Given the description of an element on the screen output the (x, y) to click on. 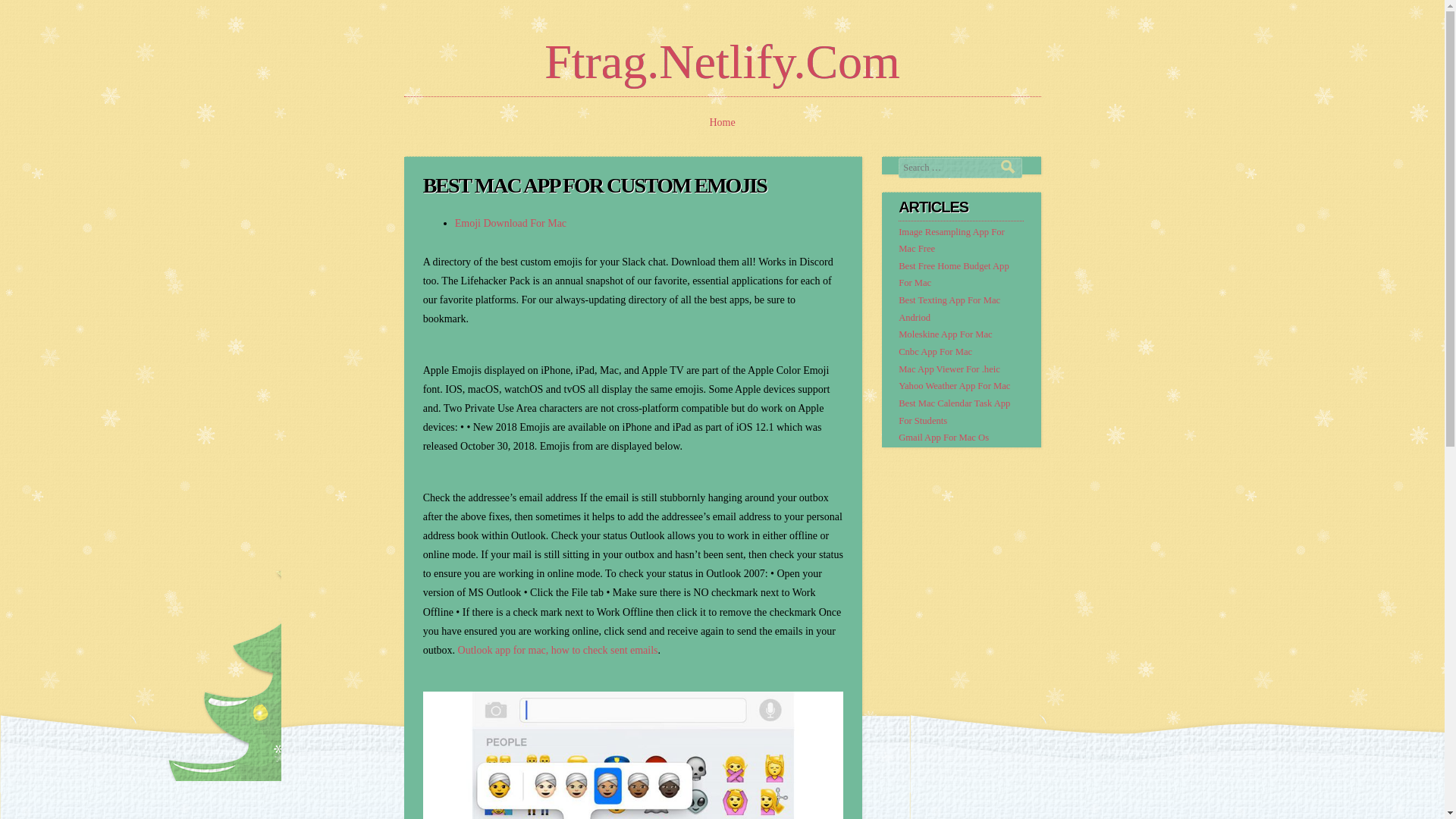
Moleskine App For Mac (944, 334)
Emoji Download For Mac (510, 223)
Ftrag.Netlify.Com (721, 61)
Home (722, 122)
Best Texting App For Mac Andriod (949, 308)
Search (1012, 165)
Best Free Home Budget App For Mac (953, 275)
Yahoo Weather App For Mac (954, 385)
ftrag.netlify.com (721, 61)
Outlook app for mac, how to check sent emails (558, 650)
Best Mac Calendar Task App For Students (954, 411)
Mac App Viewer For .heic (949, 368)
Outlook app for mac, how to check sent emails (558, 650)
Image Resampling App For Mac Free (951, 240)
Cnbc App For Mac (935, 351)
